Given the description of an element on the screen output the (x, y) to click on. 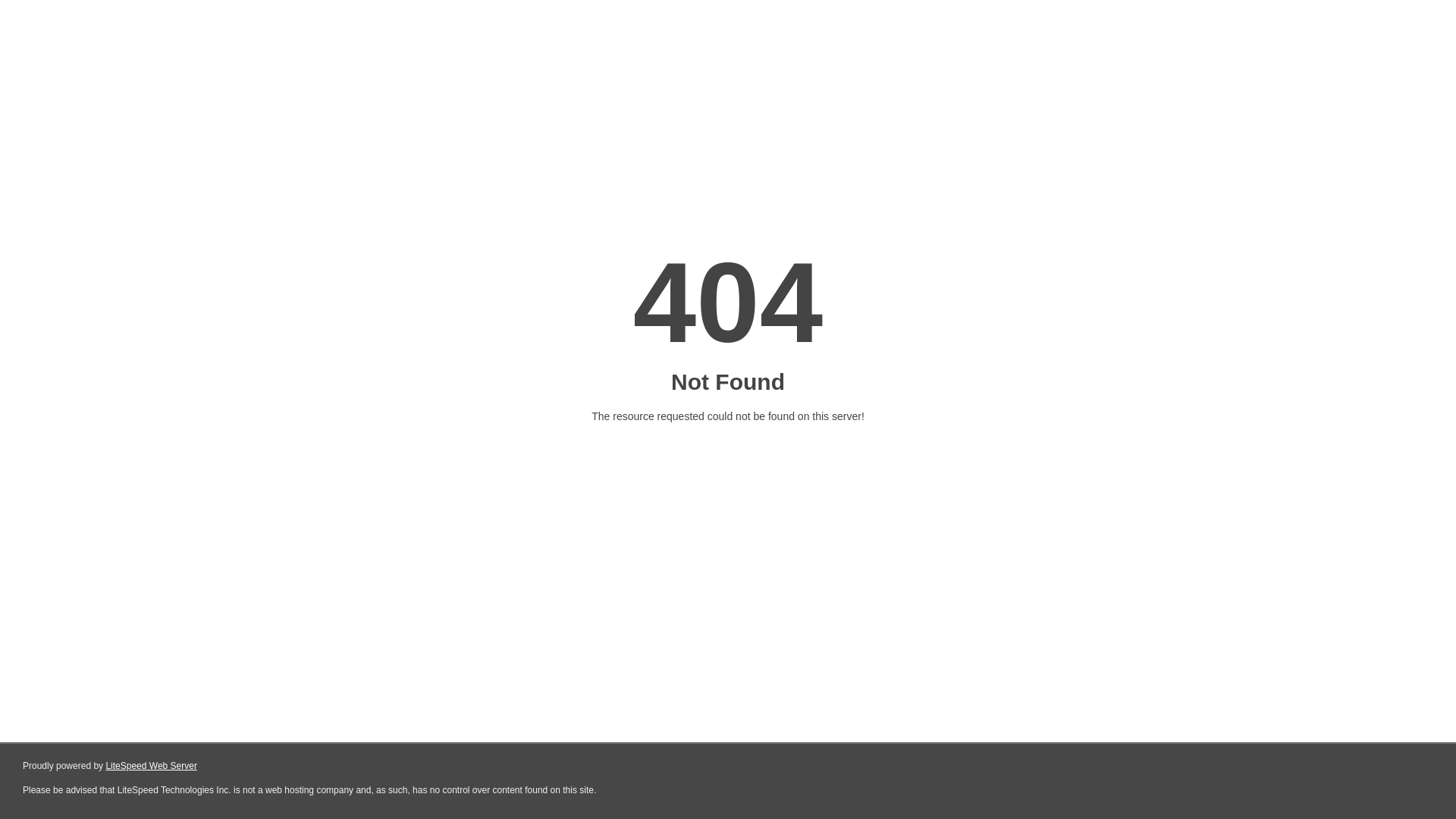
LiteSpeed Web Server Element type: text (151, 765)
